Given the description of an element on the screen output the (x, y) to click on. 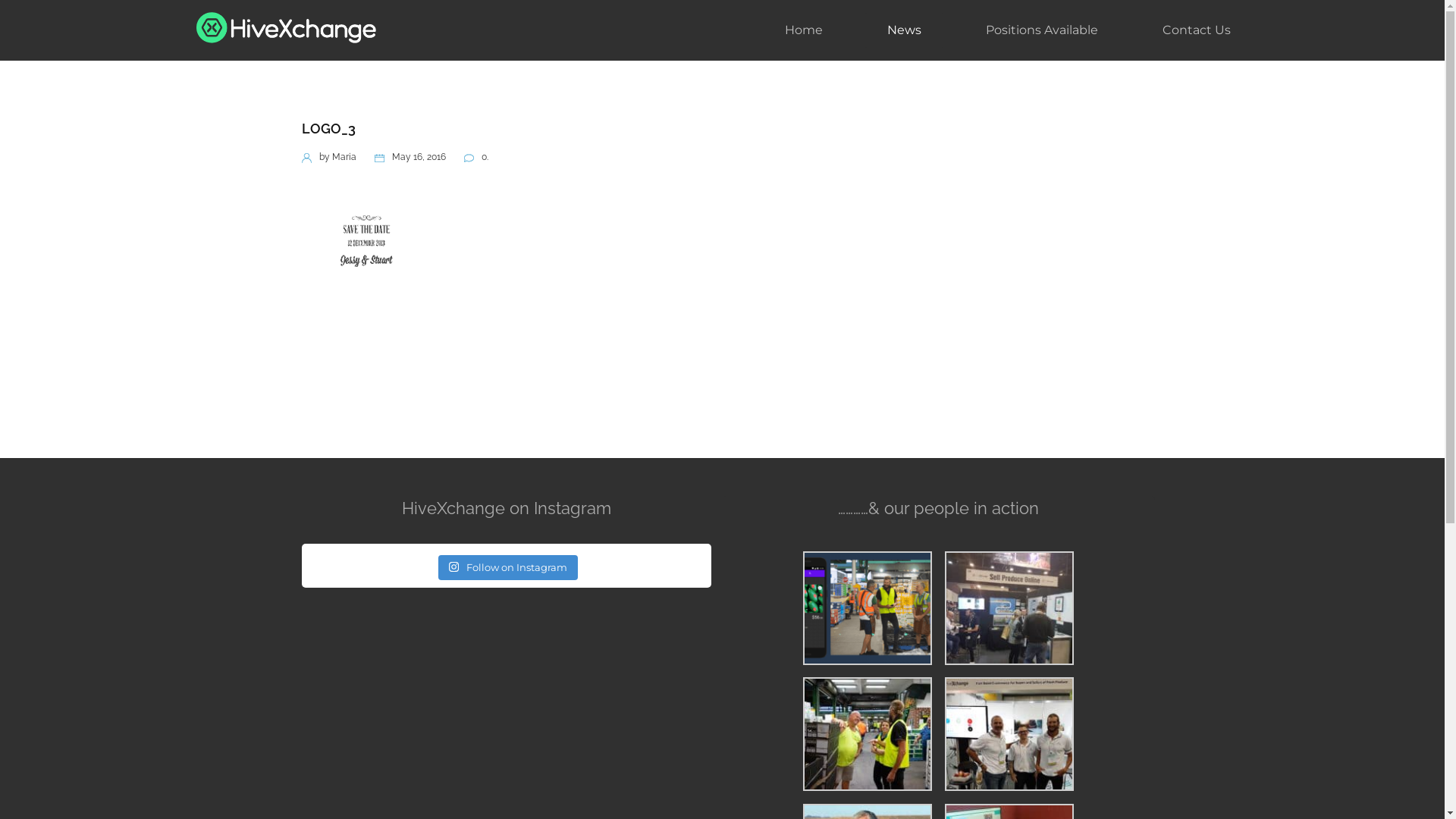
by Maria Element type: text (328, 156)
Home Element type: text (802, 29)
Contact Us Element type: text (1195, 29)
LOGO_3 Element type: text (328, 128)
Follow on Instagram Element type: text (507, 567)
Create a private digital marketplace in minutes Element type: hover (285, 29)
News Element type: text (904, 29)
0. Element type: text (476, 156)
Positions Available Element type: text (1041, 29)
May 16, 2016 Element type: text (409, 156)
